Given the description of an element on the screen output the (x, y) to click on. 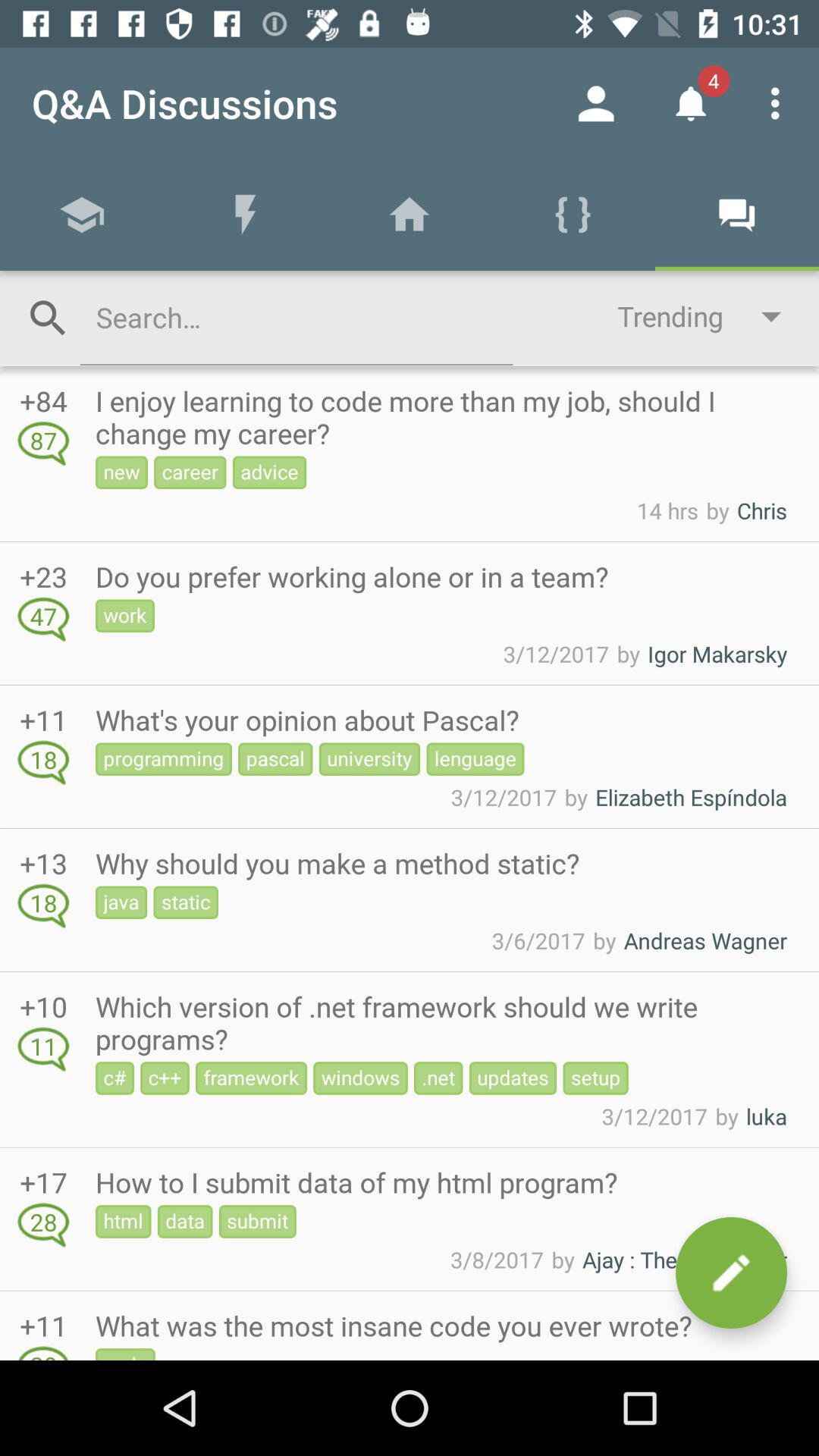
edit button (731, 1272)
